Given the description of an element on the screen output the (x, y) to click on. 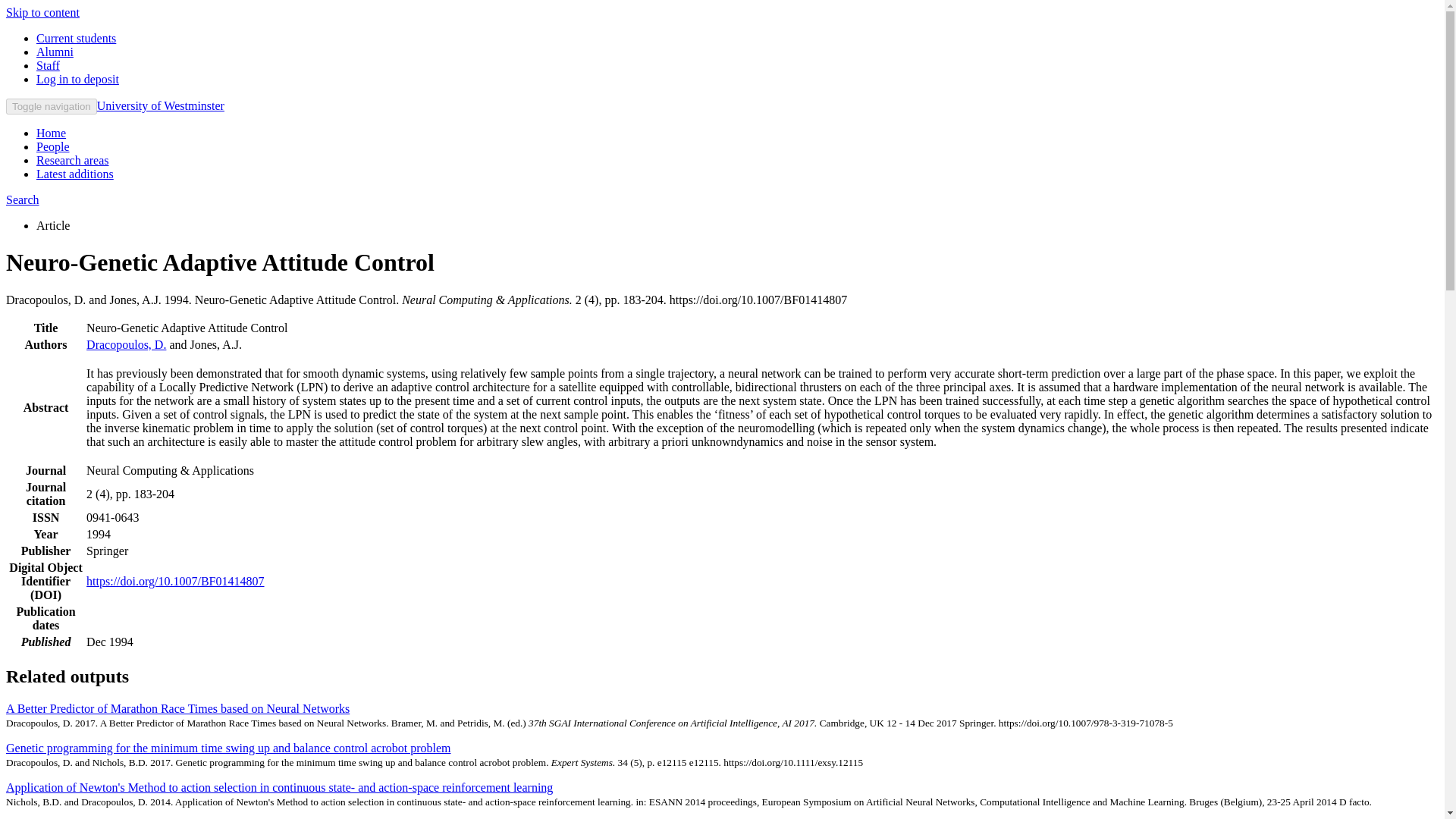
Toggle navigation (51, 106)
Log in to deposit (77, 78)
Research areas (72, 160)
Home (50, 132)
Alumni (55, 51)
Skip to content (42, 11)
People (52, 146)
University of Westminster (160, 105)
